Given the description of an element on the screen output the (x, y) to click on. 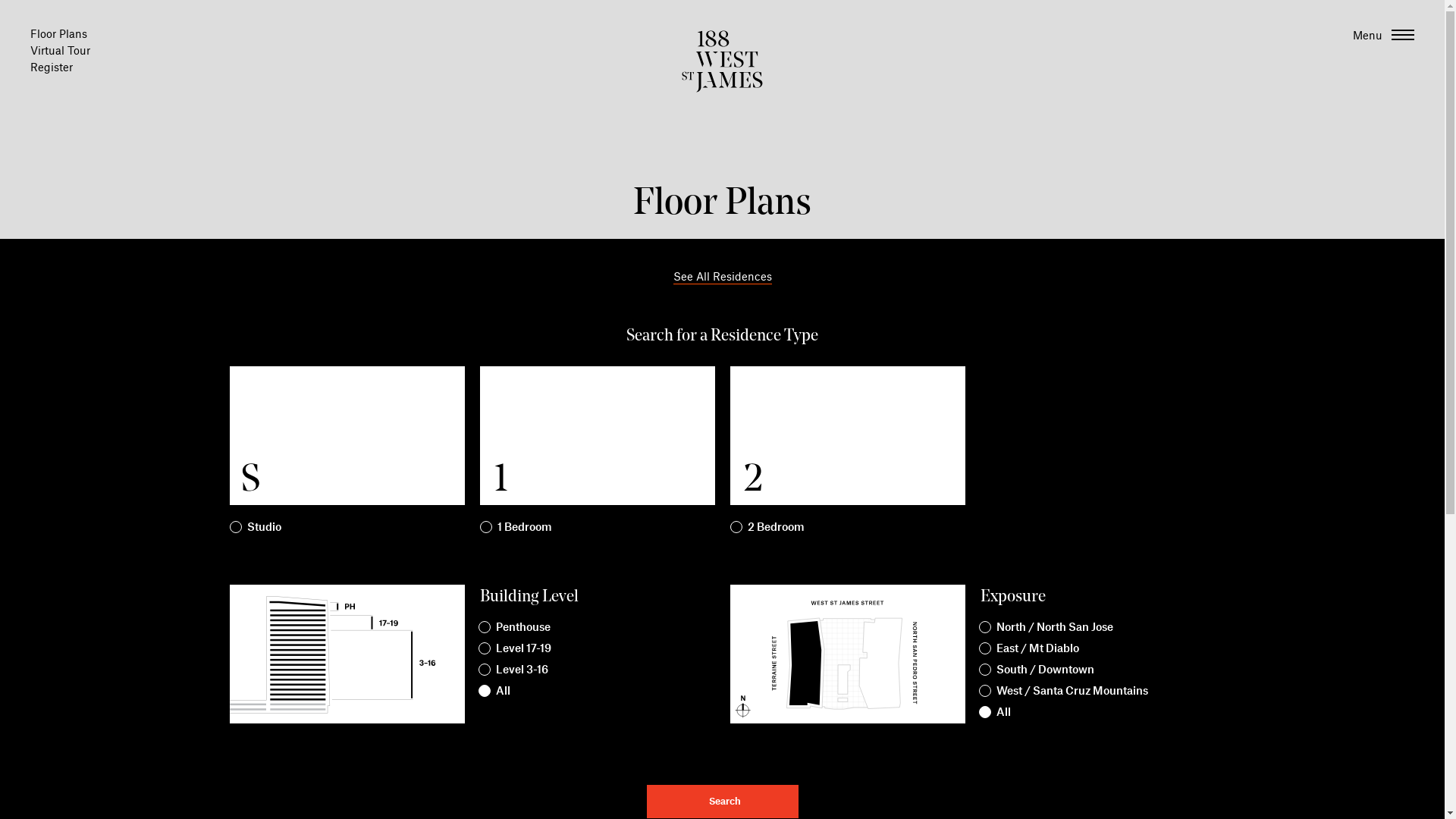
Return to homepage Element type: hover (721, 87)
Search Element type: text (721, 801)
All Element type: text (999, 710)
North / North San Jose Element type: text (1050, 626)
See All Residences Element type: text (722, 277)
Penthouse Element type: text (518, 626)
Studio Element type: text (254, 524)
Level 17-19 Element type: text (519, 647)
2 Bedroom Element type: text (766, 524)
1 Bedroom Element type: text (515, 524)
West / Santa Cruz Mountains Element type: text (1067, 689)
East / Mt Diablo Element type: text (1033, 647)
Level 3-16 Element type: text (517, 668)
Floor Plans Element type: text (58, 33)
Virtual Tour Element type: text (60, 49)
South / Downtown Element type: text (1040, 668)
Register Element type: text (51, 66)
All Element type: text (498, 689)
